Given the description of an element on the screen output the (x, y) to click on. 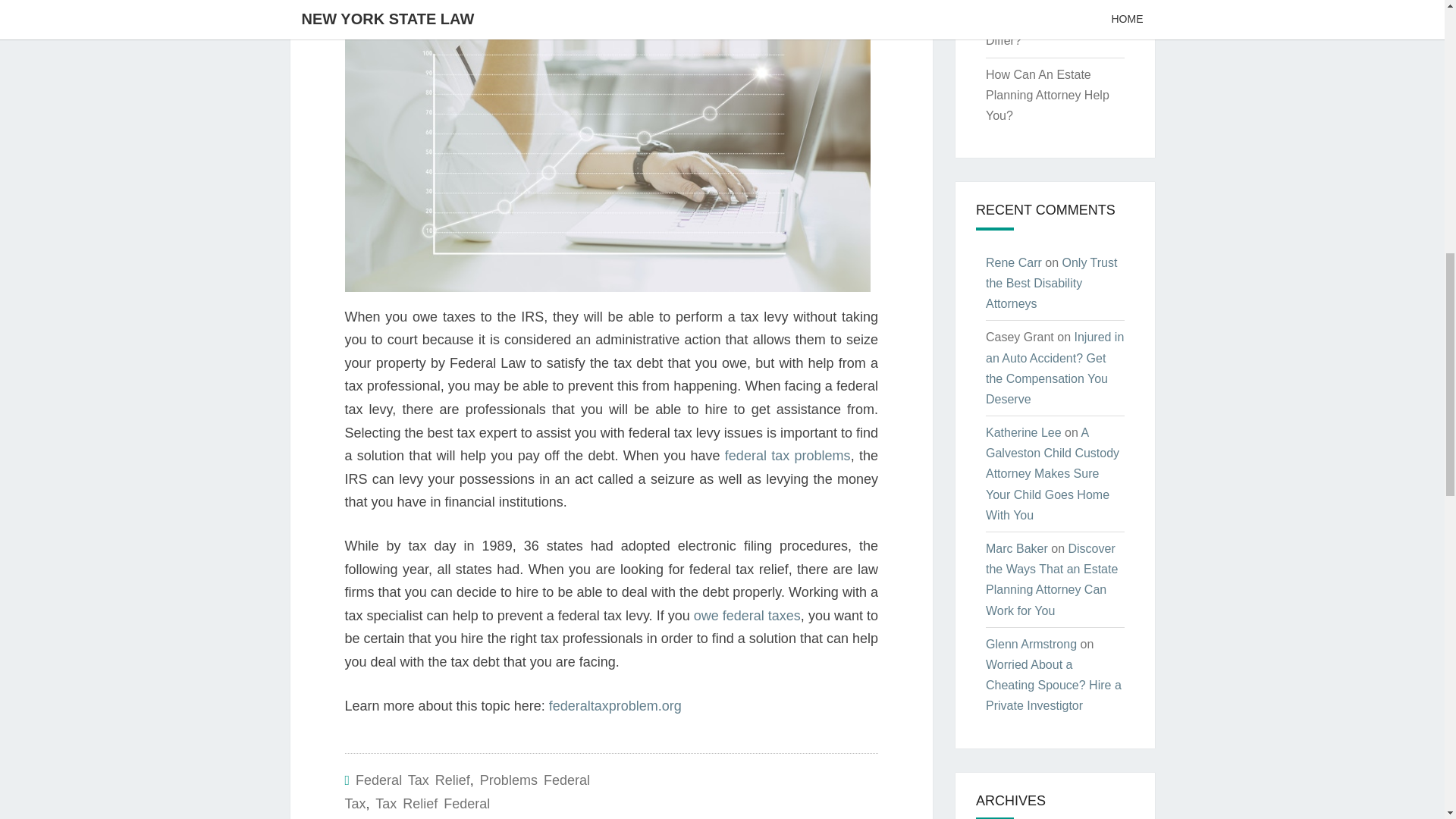
Marc Baker (1016, 548)
Problems Federal Tax (466, 792)
How Can An Estate Planning Attorney Help You? (1047, 94)
Federal Tax Relief (412, 780)
Katherine Lee (1023, 431)
federal tax problems (787, 455)
owe federal taxes (747, 615)
federaltaxproblem.org (614, 705)
Rene Carr (1013, 262)
Something I found (747, 615)
How Do Mediation and Arbitration Services Differ? (1046, 23)
Tax Relief Federal (432, 803)
Only Trust the Best Disability Attorneys (1050, 283)
